Given the description of an element on the screen output the (x, y) to click on. 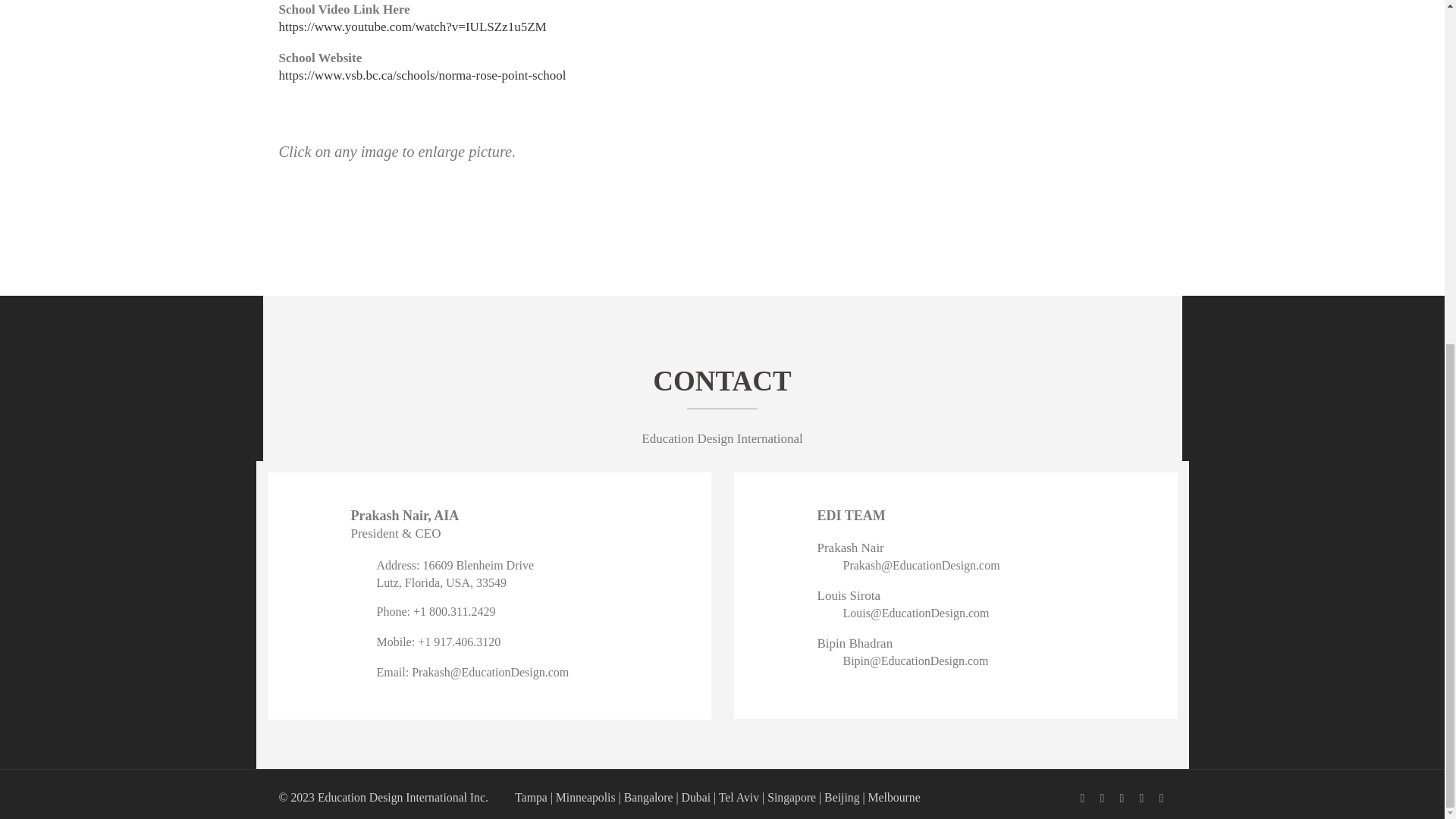
Instagram (1141, 798)
LinkedIn (1102, 798)
YouTube (1161, 798)
Twitter (1122, 798)
Facebook (1083, 798)
